Given the description of an element on the screen output the (x, y) to click on. 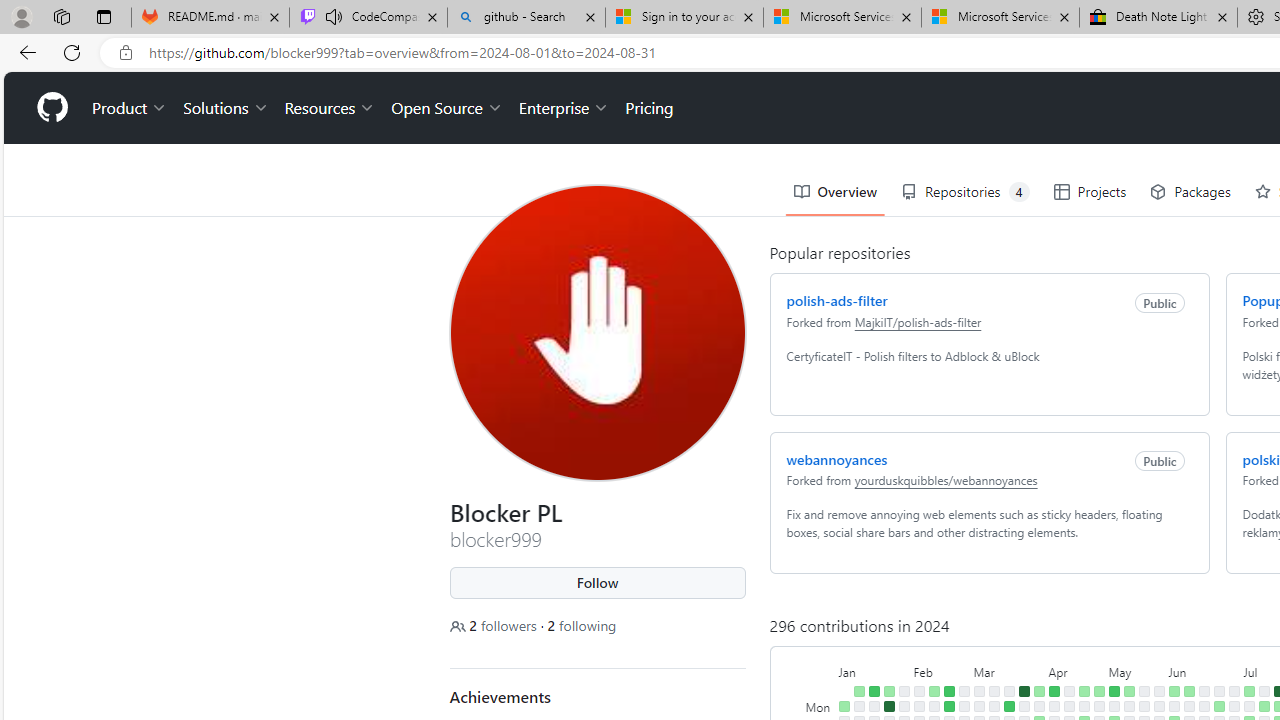
3 contributions on January 7th. (858, 691)
No contributions on May 27th. (1158, 706)
6 contributions on May 5th. (1114, 691)
1 contribution on March 31st. (1038, 691)
No contributions on June 16th. (1203, 691)
polish-ads-filter (836, 300)
github - Search (526, 17)
2 following (581, 625)
No contributions on March 10th. (993, 691)
No contributions on February 12th. (933, 706)
MajkiIT/polish-ads-filter (917, 321)
